Given the description of an element on the screen output the (x, y) to click on. 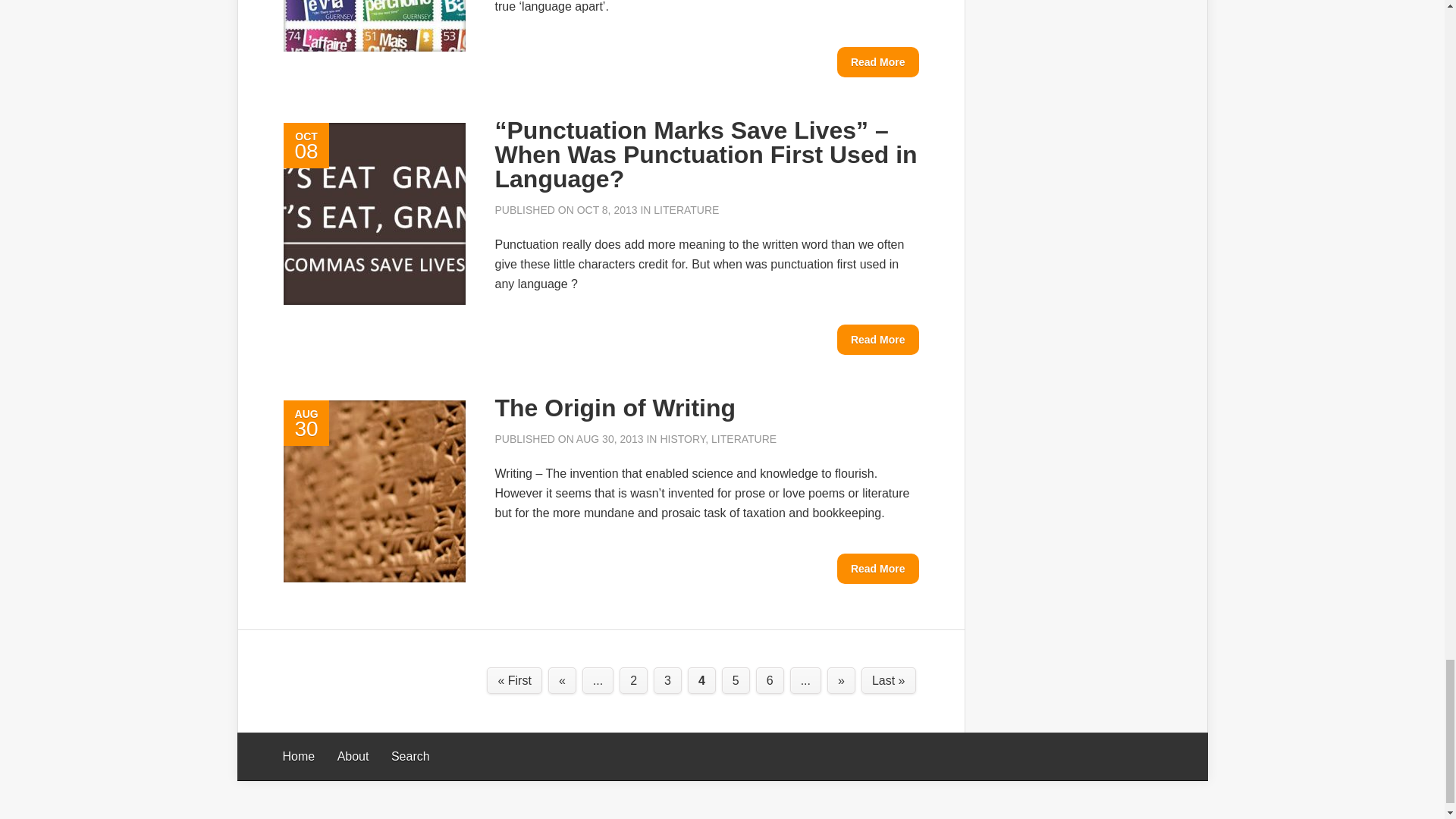
Page 3 (667, 680)
Page 2 (633, 680)
Page 5 (735, 680)
Page 6 (769, 680)
